Given the description of an element on the screen output the (x, y) to click on. 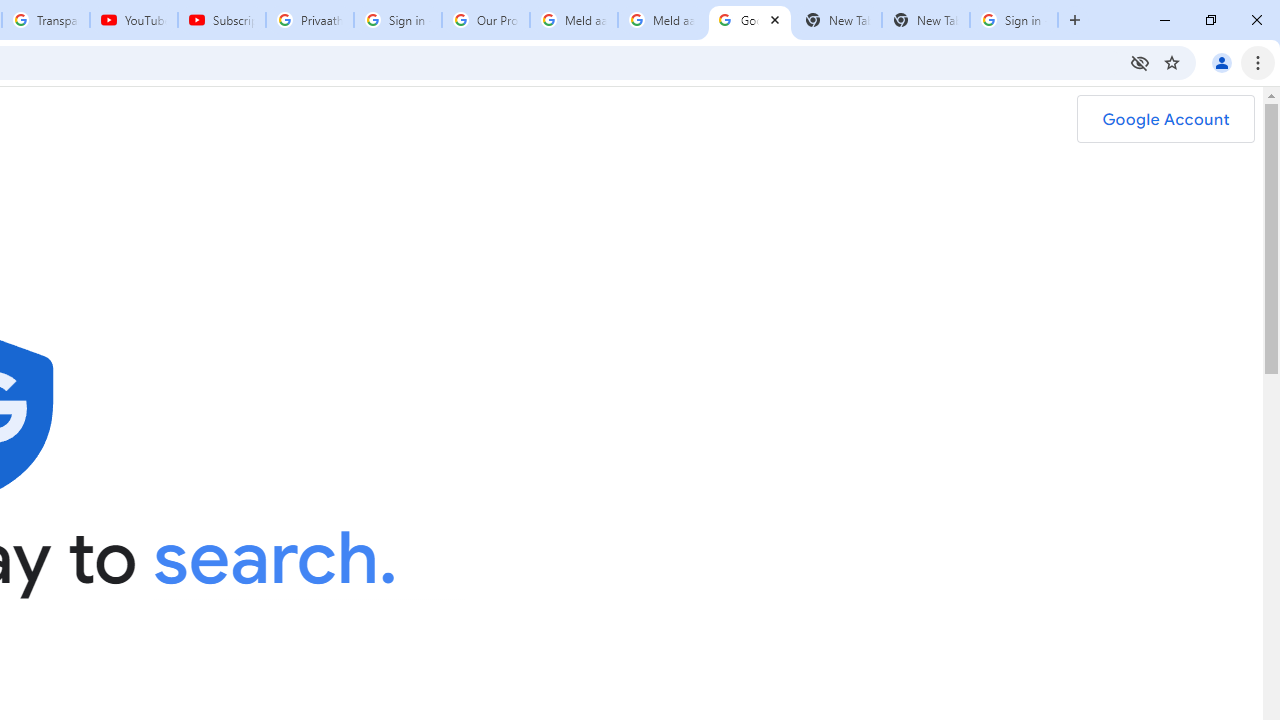
Sign in - Google Accounts (1014, 20)
Google Account (1165, 119)
Google Safety Center - Stay Safer Online (749, 20)
YouTube (133, 20)
New Tab (925, 20)
